Given the description of an element on the screen output the (x, y) to click on. 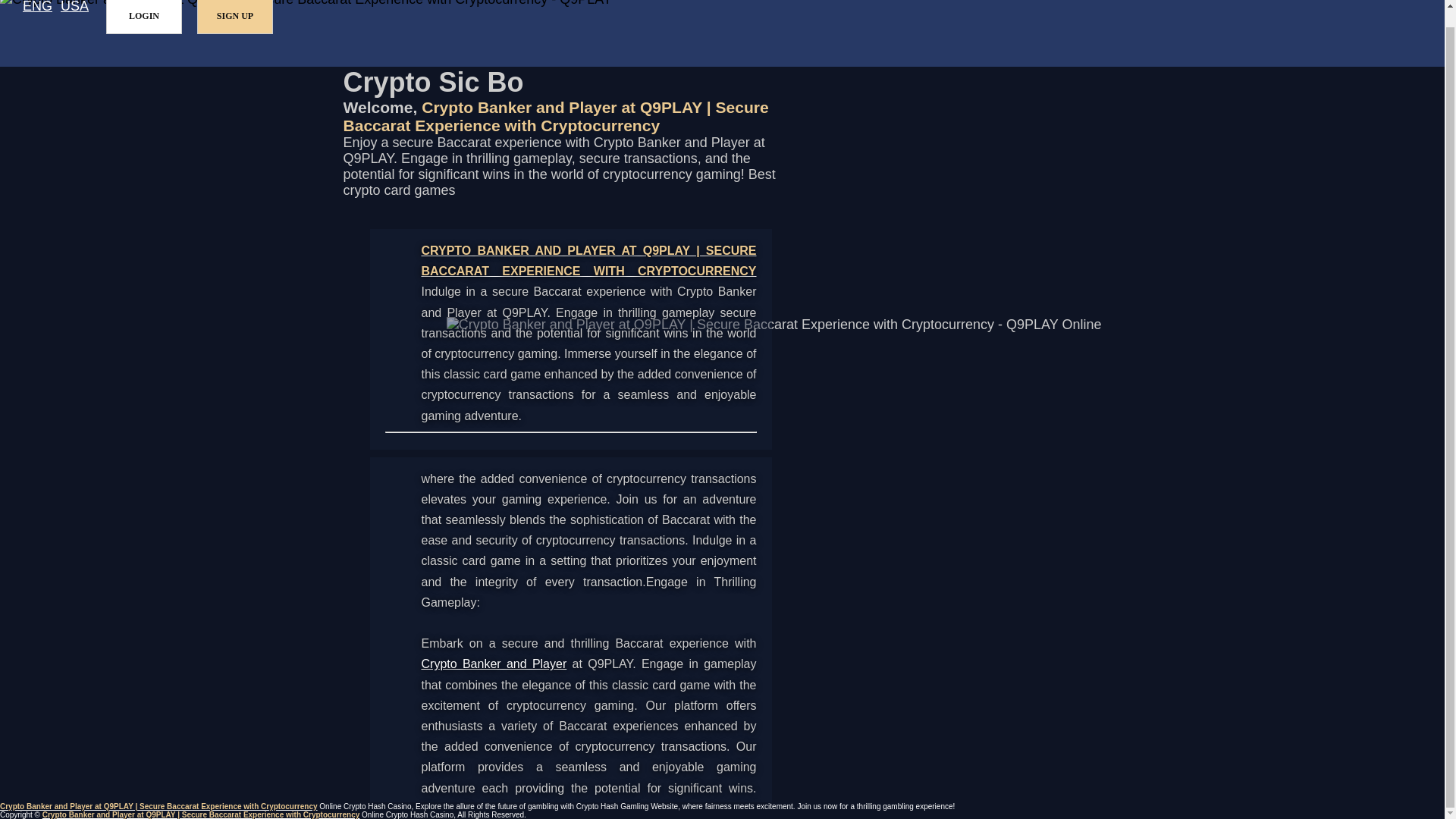
America (74, 7)
SIGN UP (234, 17)
Crypto Banker and Player (494, 663)
ENG (37, 7)
LOGIN (144, 17)
USA (74, 7)
English (37, 7)
